Given the description of an element on the screen output the (x, y) to click on. 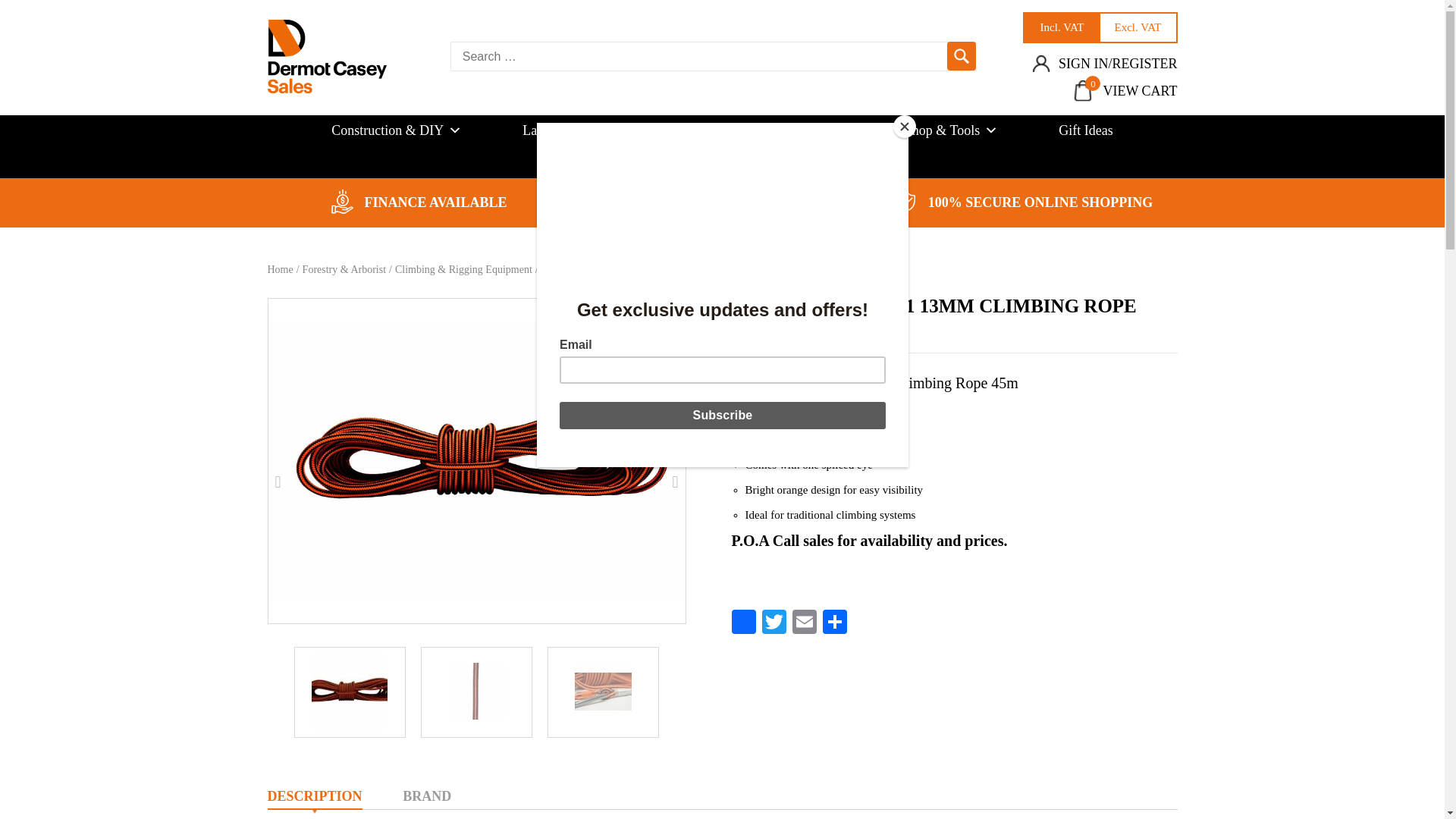
Treehog THCR131 13mm Climbing Rope 45m (476, 461)
onsale (907, 201)
Search (961, 55)
Twitter (773, 623)
Facebook (743, 623)
dermotcasey (326, 56)
Email (803, 623)
Free Nationwide Delivery (623, 201)
Finance Available (342, 201)
Search (961, 55)
